Given the description of an element on the screen output the (x, y) to click on. 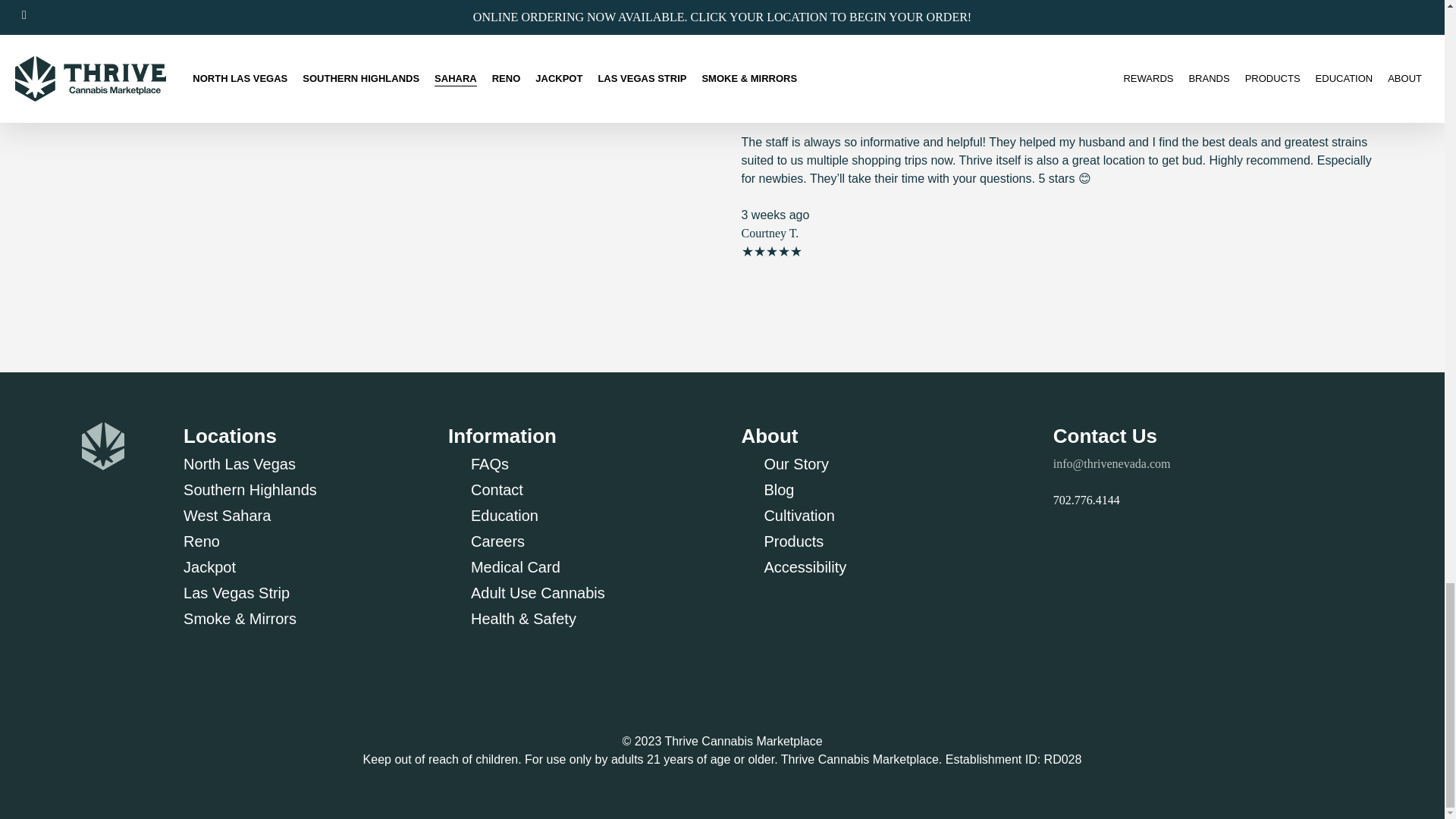
GET DIRECTIONS (136, 67)
